Given the description of an element on the screen output the (x, y) to click on. 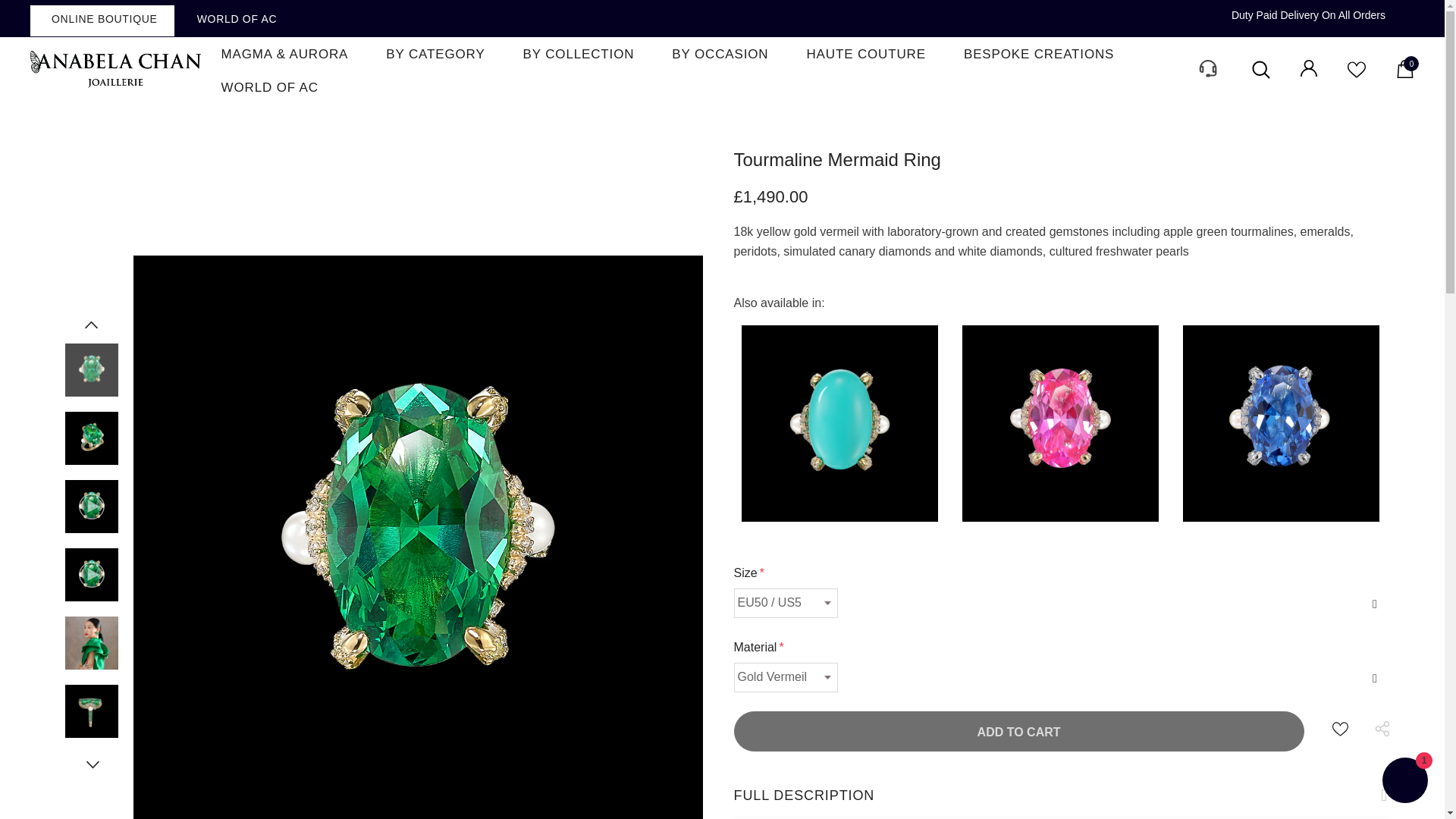
Search Icon (1260, 70)
BY CATEGORY (435, 53)
BY COLLECTION (579, 53)
Logo (115, 70)
Add to cart (1018, 731)
WORLD OF AC (235, 17)
ONLINE BOUTIQUE (102, 20)
My Wish Lists (1356, 74)
Contact Us (1206, 80)
